Given the description of an element on the screen output the (x, y) to click on. 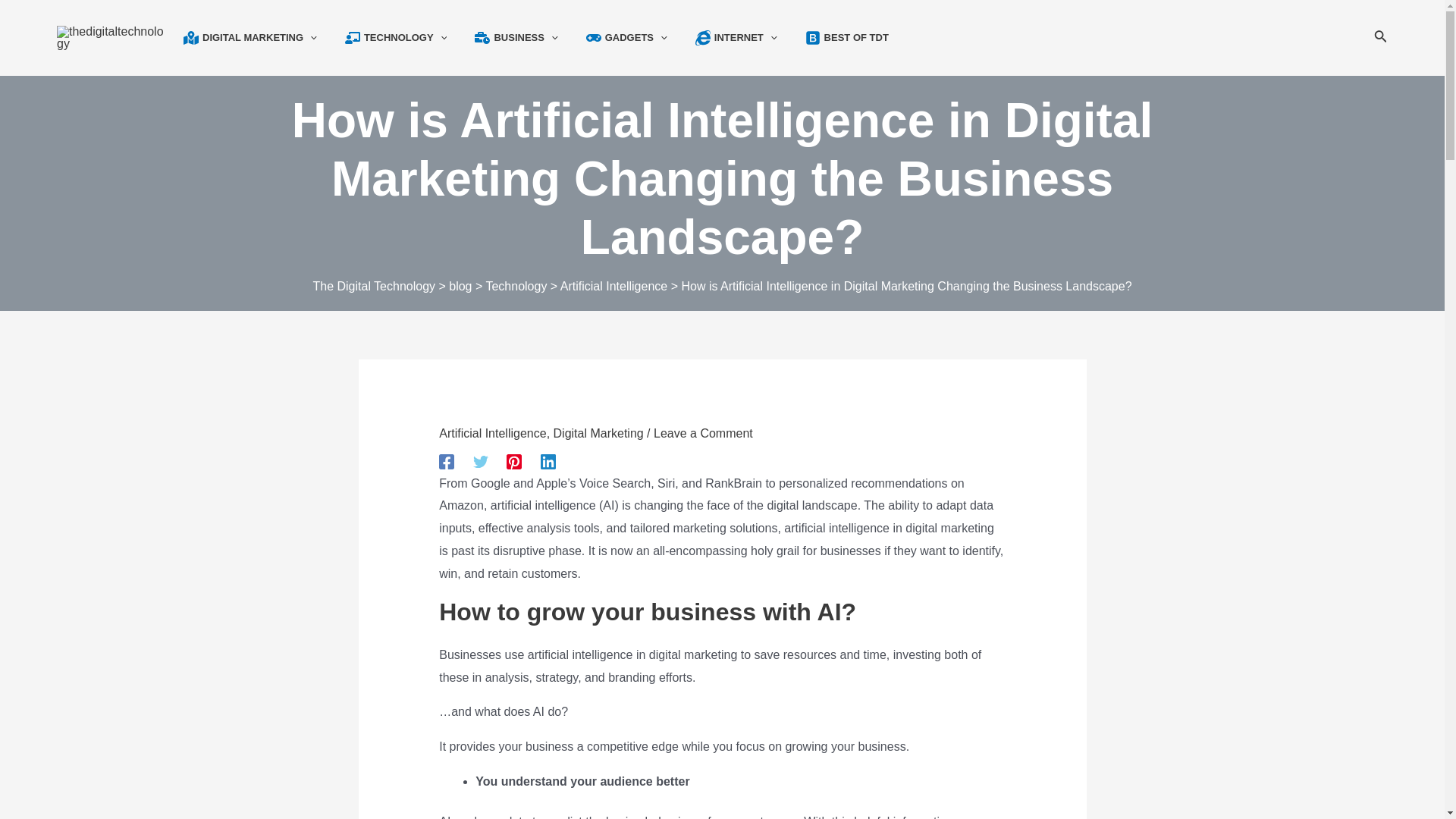
DIGITAL MARKETING (259, 38)
BUSINESS (525, 38)
Go to The Digital Technology. (374, 286)
BEST OF TDT (857, 38)
INTERNET (746, 38)
Go to the Artificial Intelligence Category archives. (613, 286)
Go to blog. (459, 286)
GADGETS (636, 38)
Go to the Technology Category archives. (515, 286)
TECHNOLOGY (405, 38)
